Given the description of an element on the screen output the (x, y) to click on. 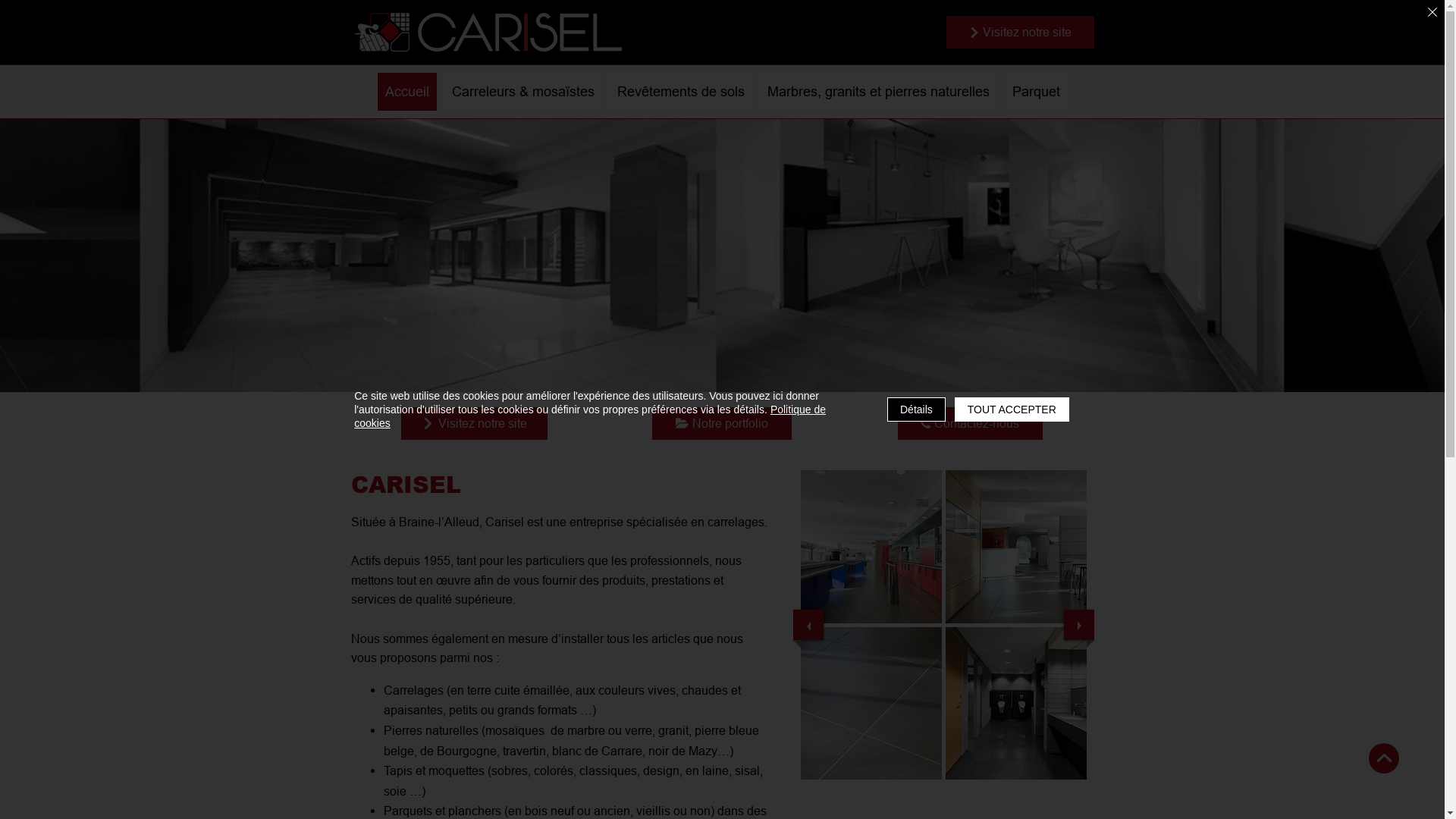
Parquet Element type: text (1035, 91)
Visitez notre site Element type: text (1020, 31)
Carisel Element type: hover (486, 31)
Notre portfolio Element type: text (721, 423)
Contactez-nous Element type: text (969, 423)
Marbres, granits et pierres naturelles Element type: text (878, 91)
Politique de cookies Element type: text (589, 416)
Visitez notre site Element type: text (473, 423)
TOUT ACCEPTER Element type: text (1011, 409)
Accueil Element type: text (406, 91)
